Given the description of an element on the screen output the (x, y) to click on. 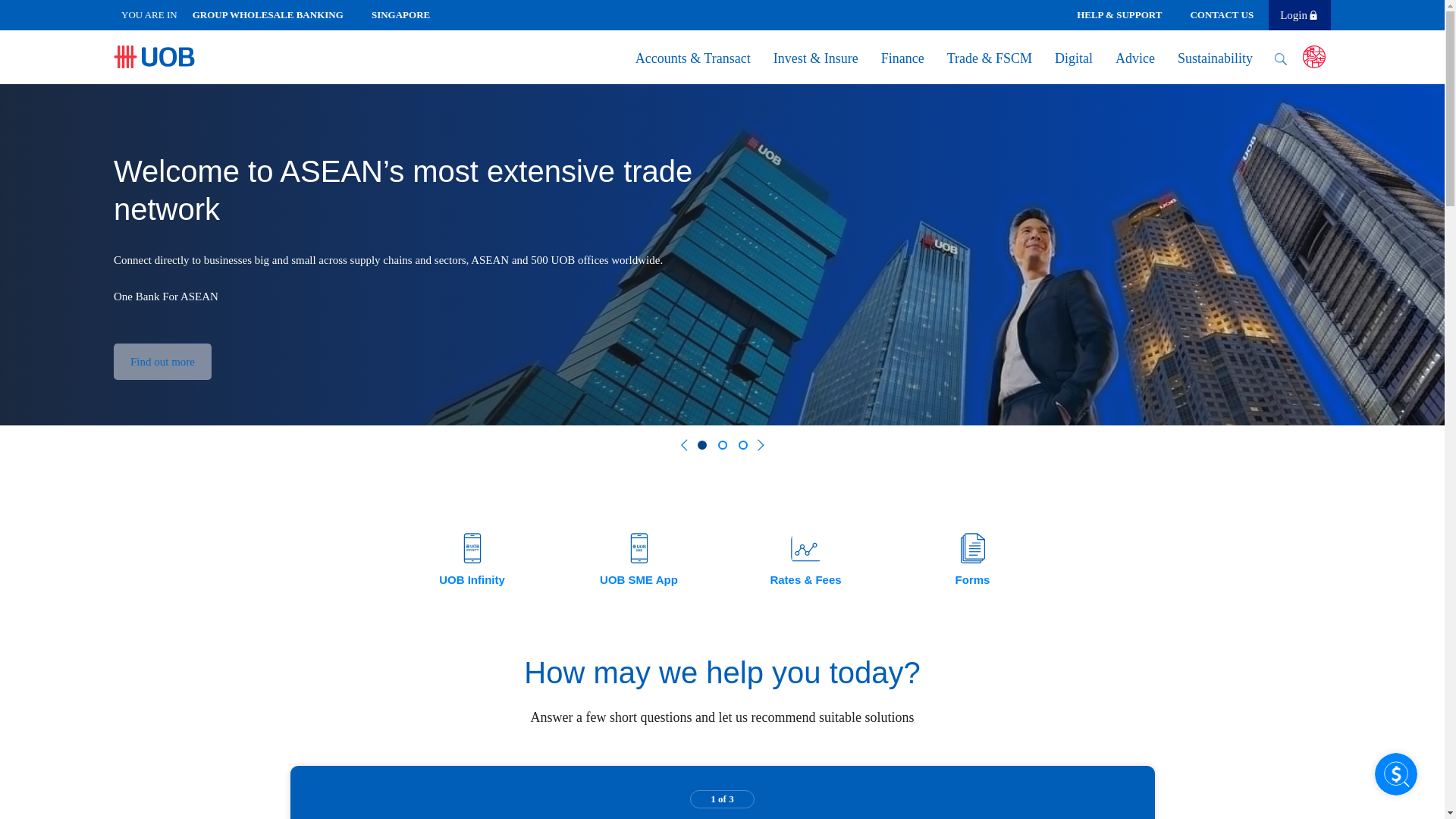
GROUP WHOLESALE BANKING (274, 14)
SINGAPORE (406, 14)
header (274, 14)
